Given the description of an element on the screen output the (x, y) to click on. 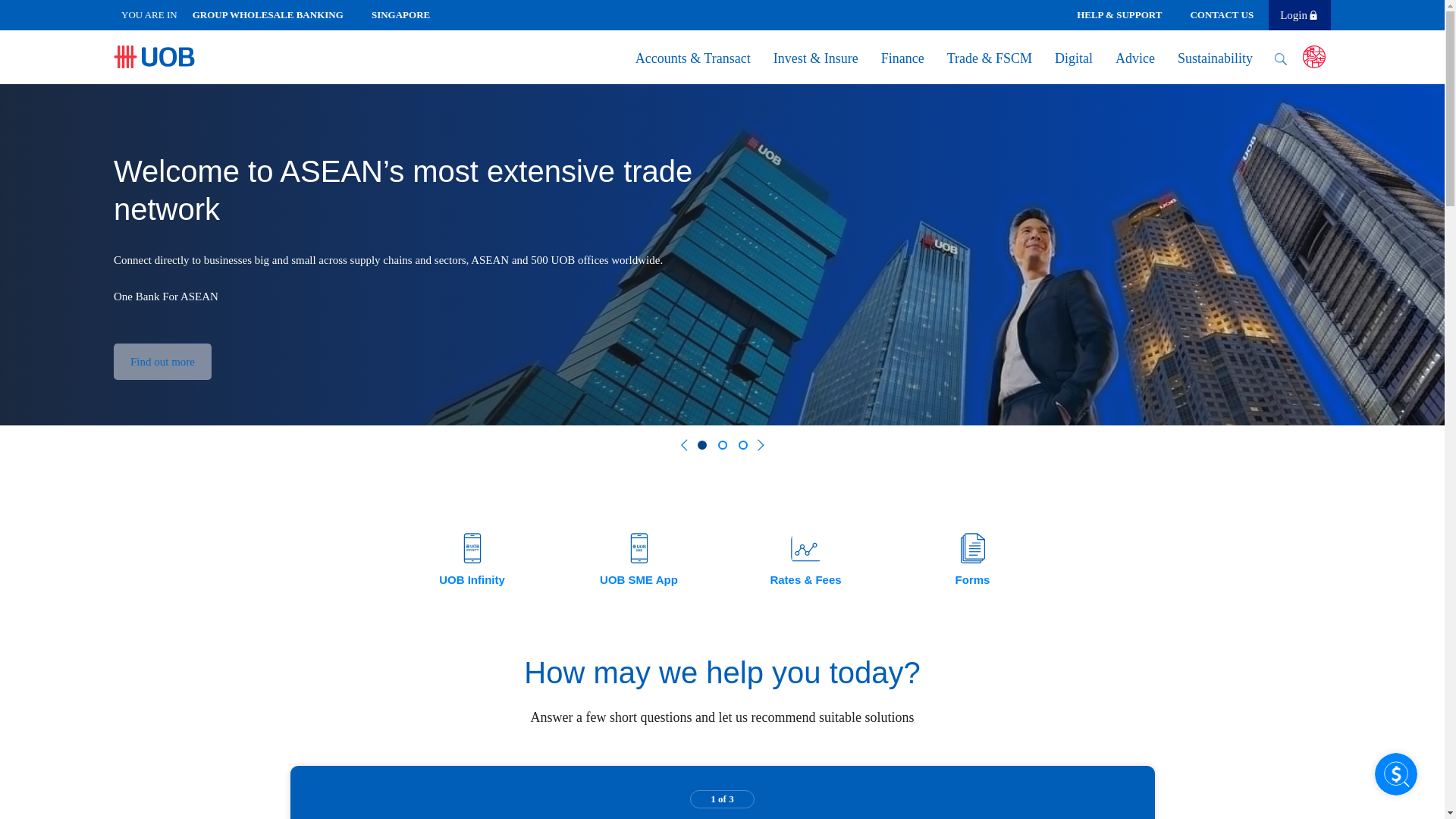
GROUP WHOLESALE BANKING (274, 14)
SINGAPORE (406, 14)
header (274, 14)
